Given the description of an element on the screen output the (x, y) to click on. 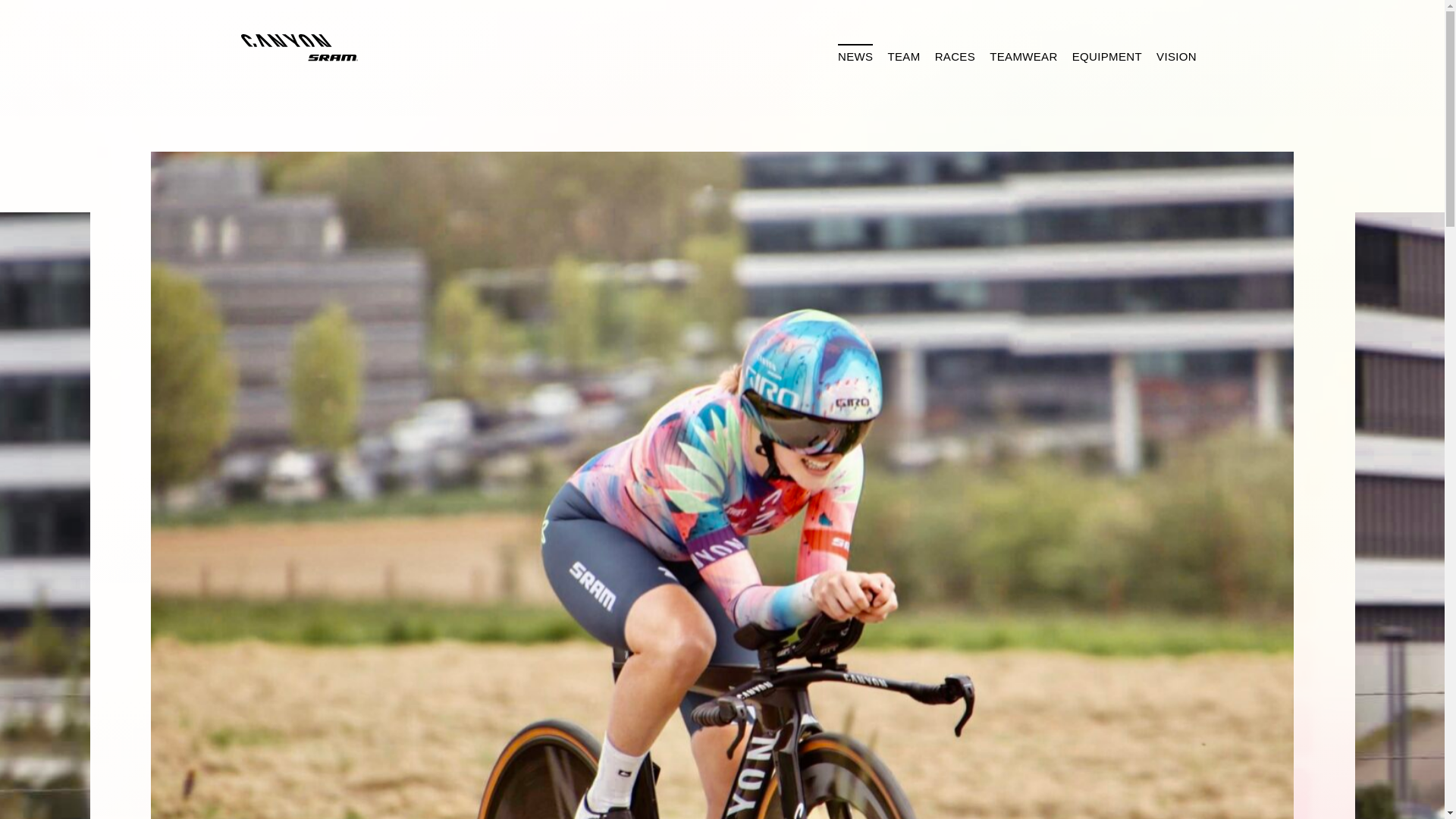
EQUIPMENT (1106, 55)
TEAMWEAR (1023, 55)
NEWS (854, 55)
RACES (954, 55)
VISION (1176, 55)
TEAM (903, 55)
